Given the description of an element on the screen output the (x, y) to click on. 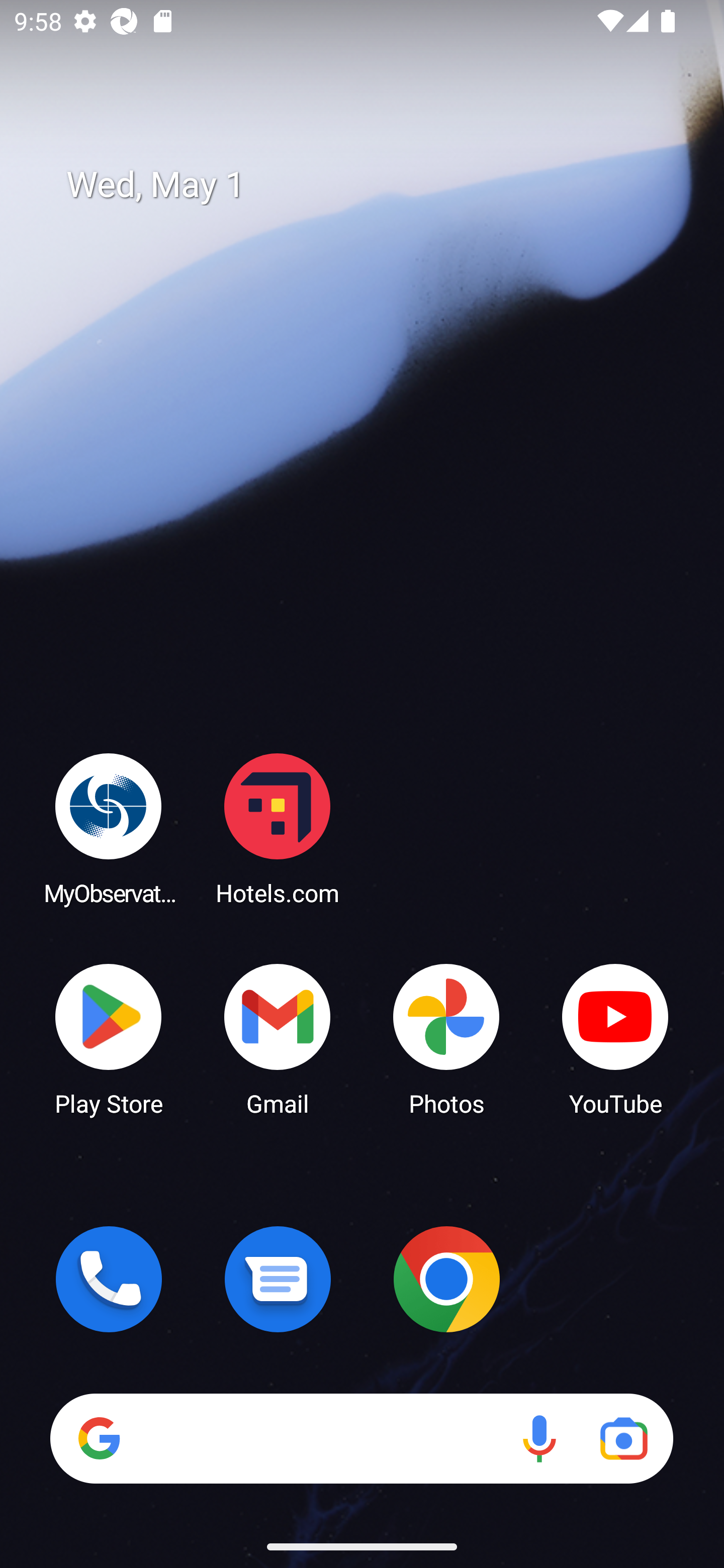
Wed, May 1 (375, 184)
MyObservatory (108, 828)
Hotels.com (277, 828)
Play Store (108, 1038)
Gmail (277, 1038)
Photos (445, 1038)
YouTube (615, 1038)
Phone (108, 1279)
Messages (277, 1279)
Chrome (446, 1279)
Search Voice search Google Lens (361, 1438)
Voice search (539, 1438)
Google Lens (623, 1438)
